Given the description of an element on the screen output the (x, y) to click on. 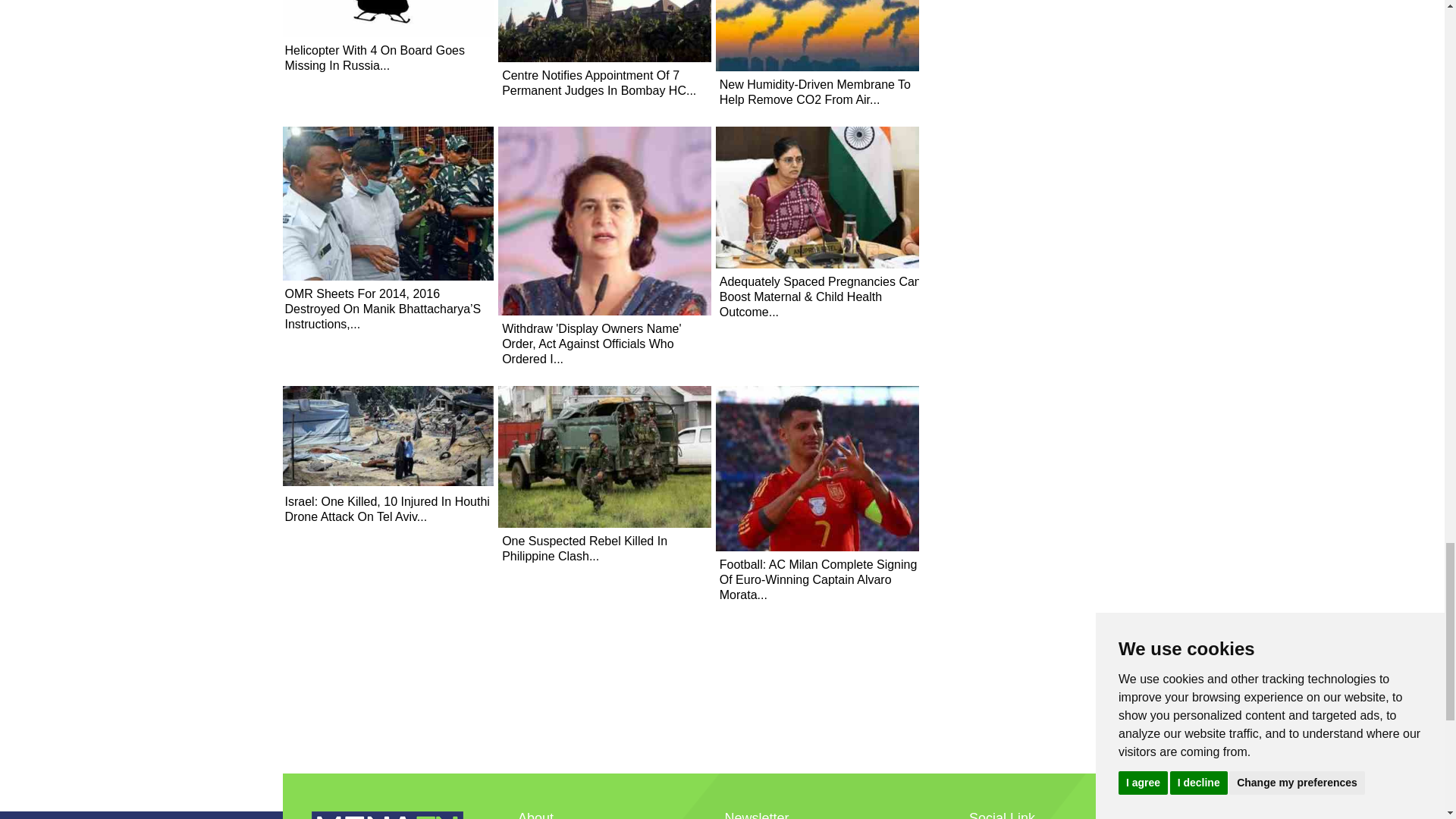
Advertisement (721, 735)
